Given the description of an element on the screen output the (x, y) to click on. 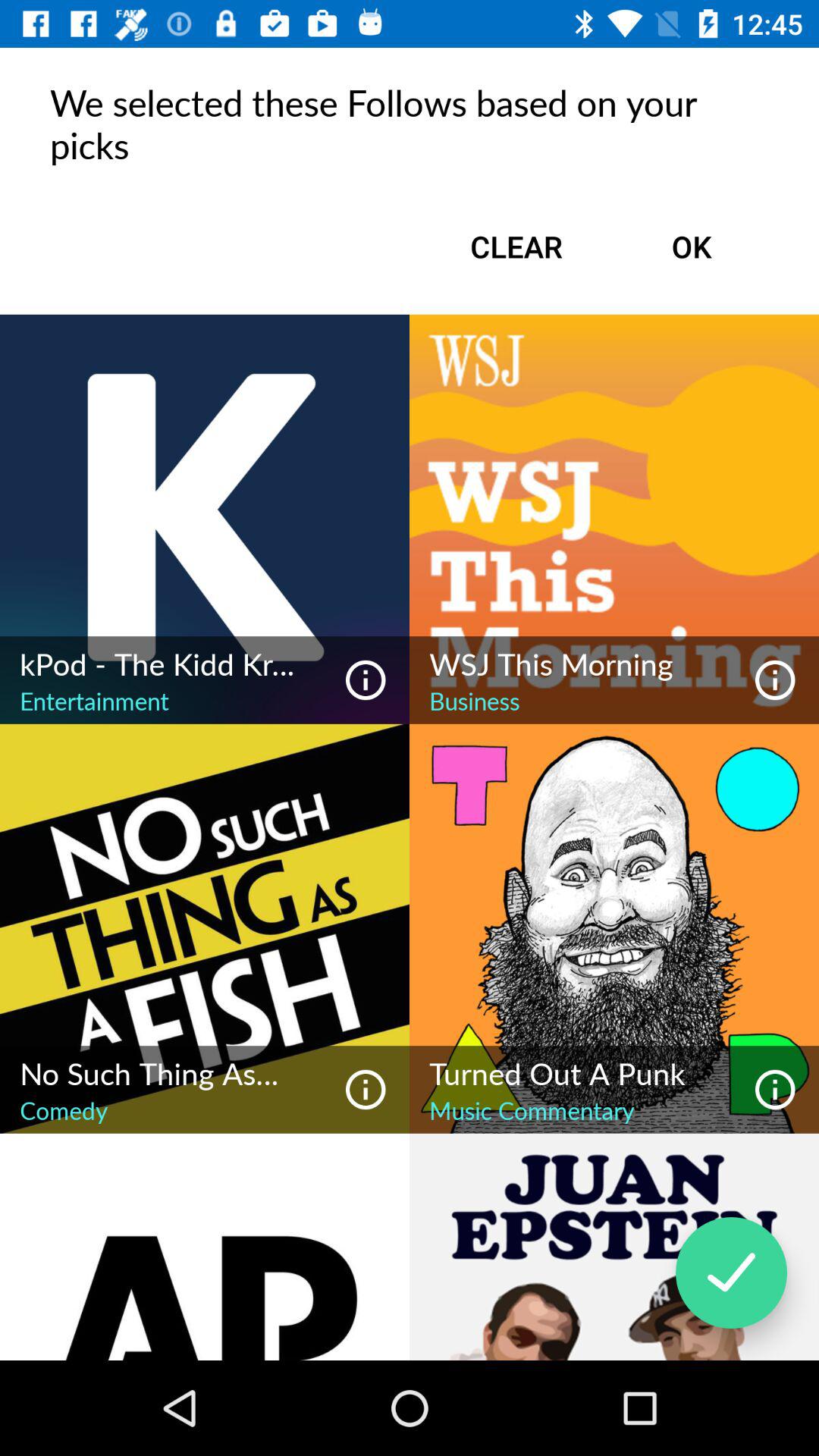
swipe to ok icon (691, 246)
